Given the description of an element on the screen output the (x, y) to click on. 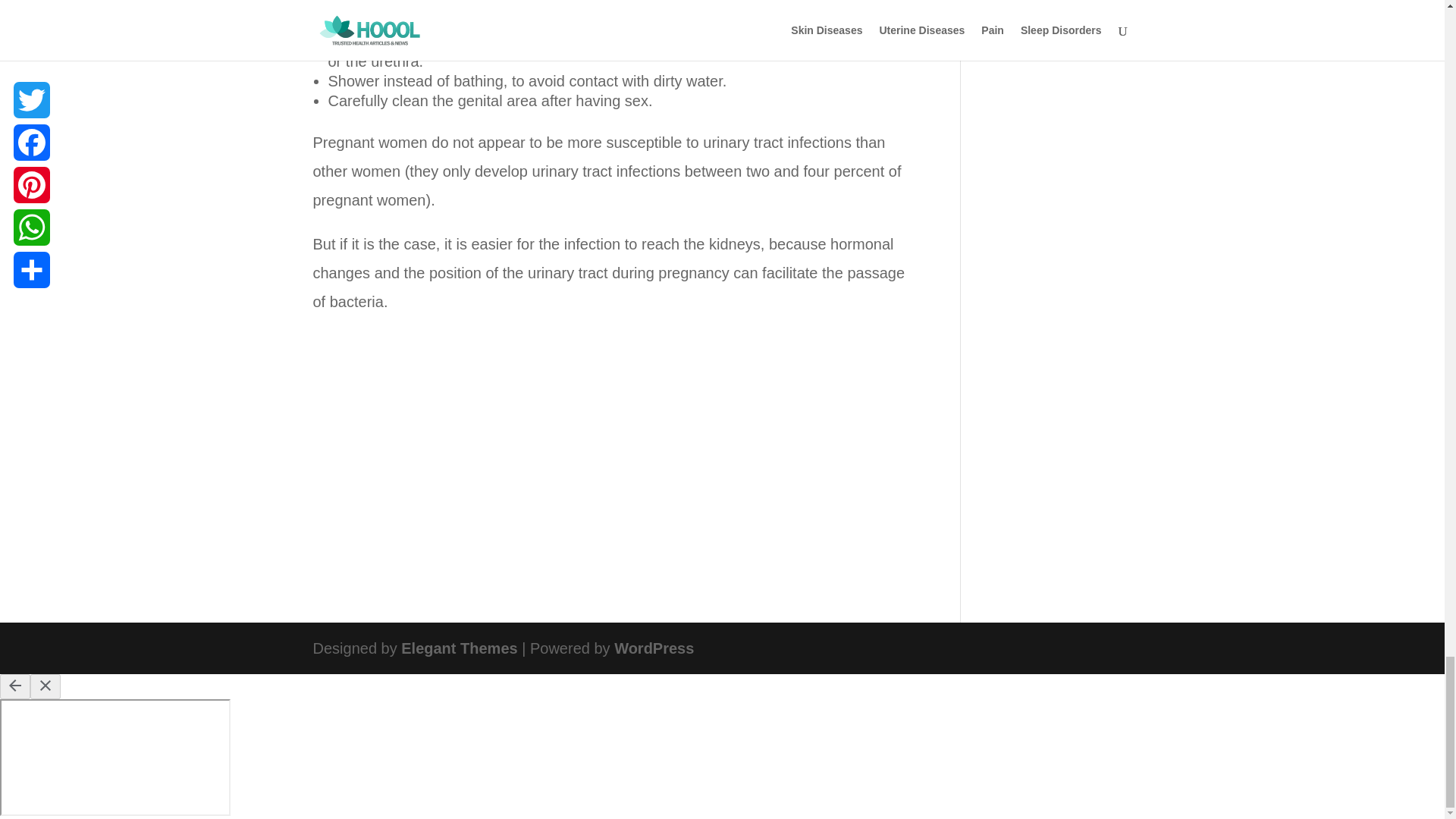
Premium WordPress Themes (458, 647)
